Given the description of an element on the screen output the (x, y) to click on. 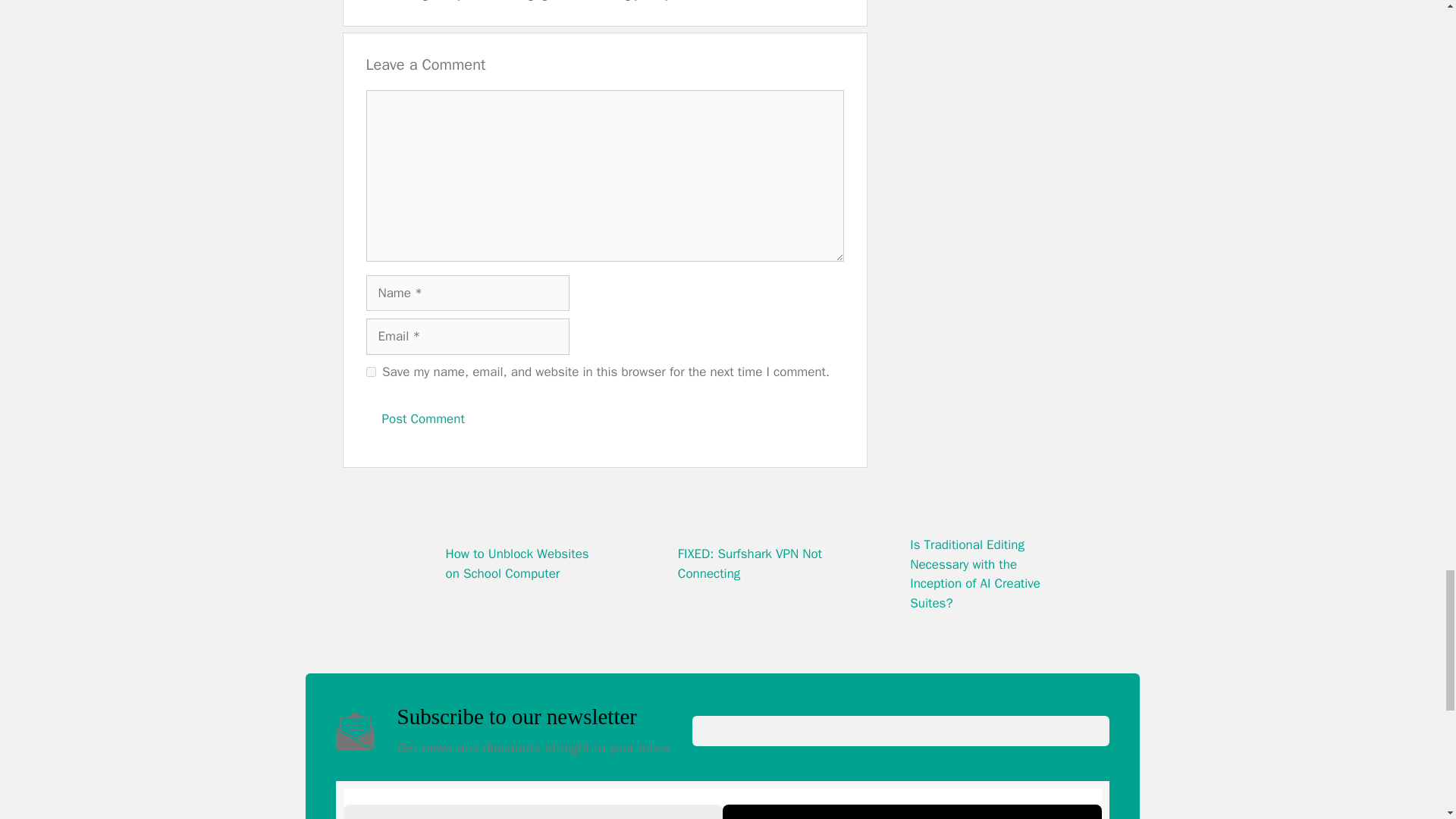
Email Address (532, 811)
Post Comment (422, 419)
JOIN THE CLUB (911, 811)
yes (370, 371)
